Given the description of an element on the screen output the (x, y) to click on. 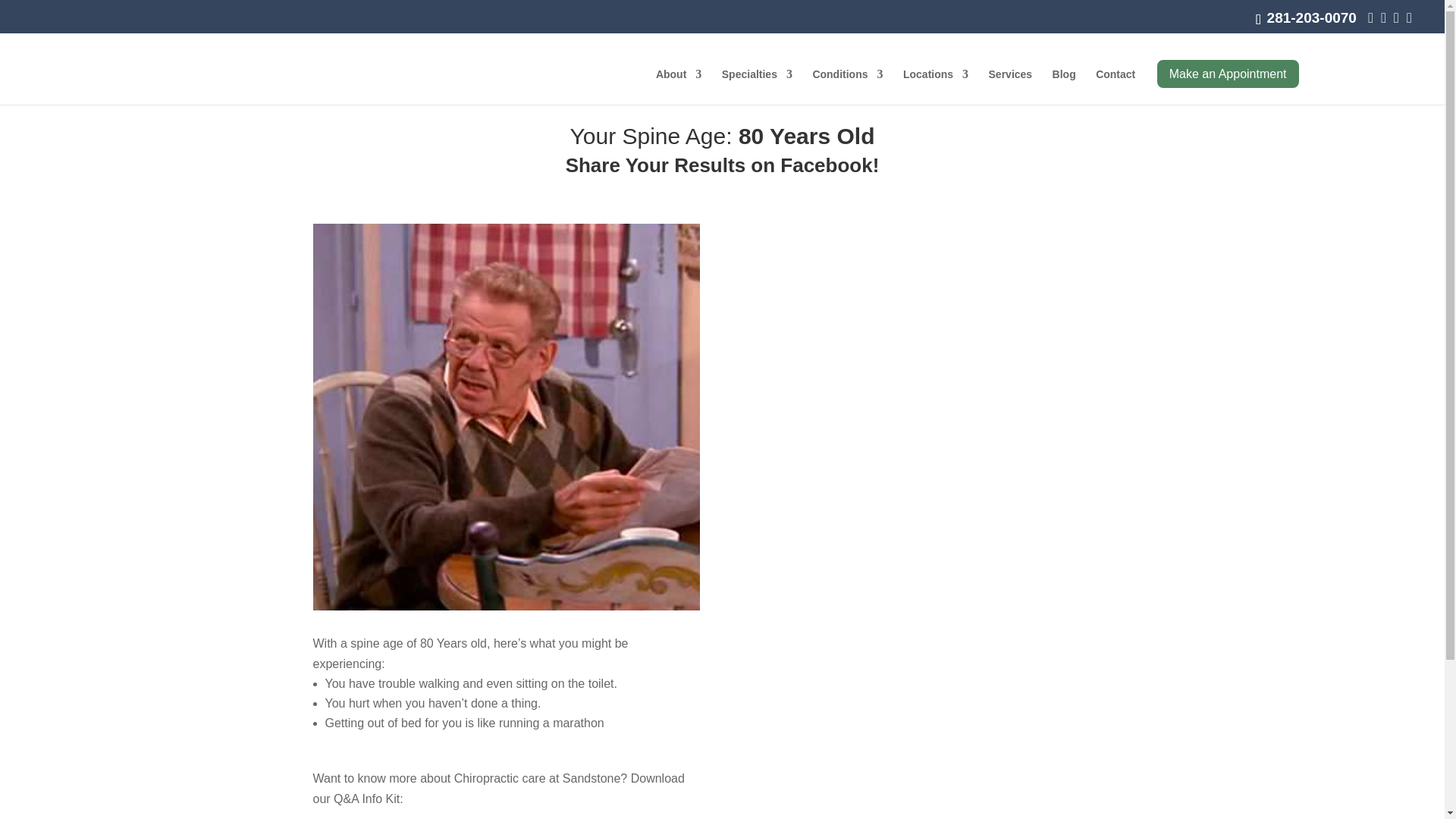
About (678, 86)
Specialties (757, 86)
Services (1010, 86)
Conditions (847, 86)
Share Your Results on Facebook! (722, 164)
281-203-0070 (1309, 17)
Make an Appointment (1228, 73)
Locations (935, 86)
Contact (1115, 86)
